Given the description of an element on the screen output the (x, y) to click on. 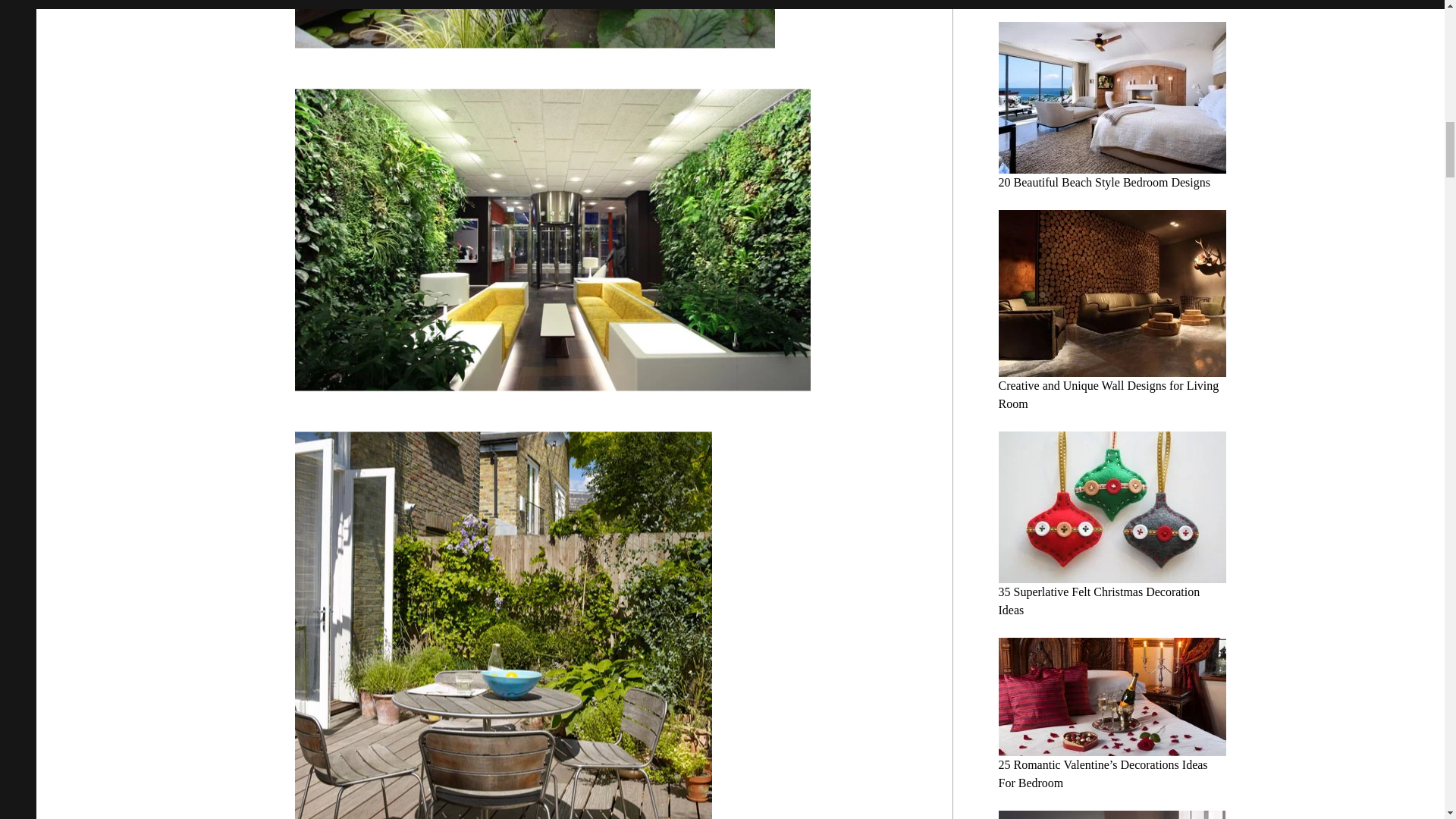
20 Beautiful Beach Style Bedroom Designs (1103, 182)
35 Superlative Felt Christmas Decoration Ideas (1098, 600)
Creative and Unique Wall Designs for Living Room (1107, 394)
